Given the description of an element on the screen output the (x, y) to click on. 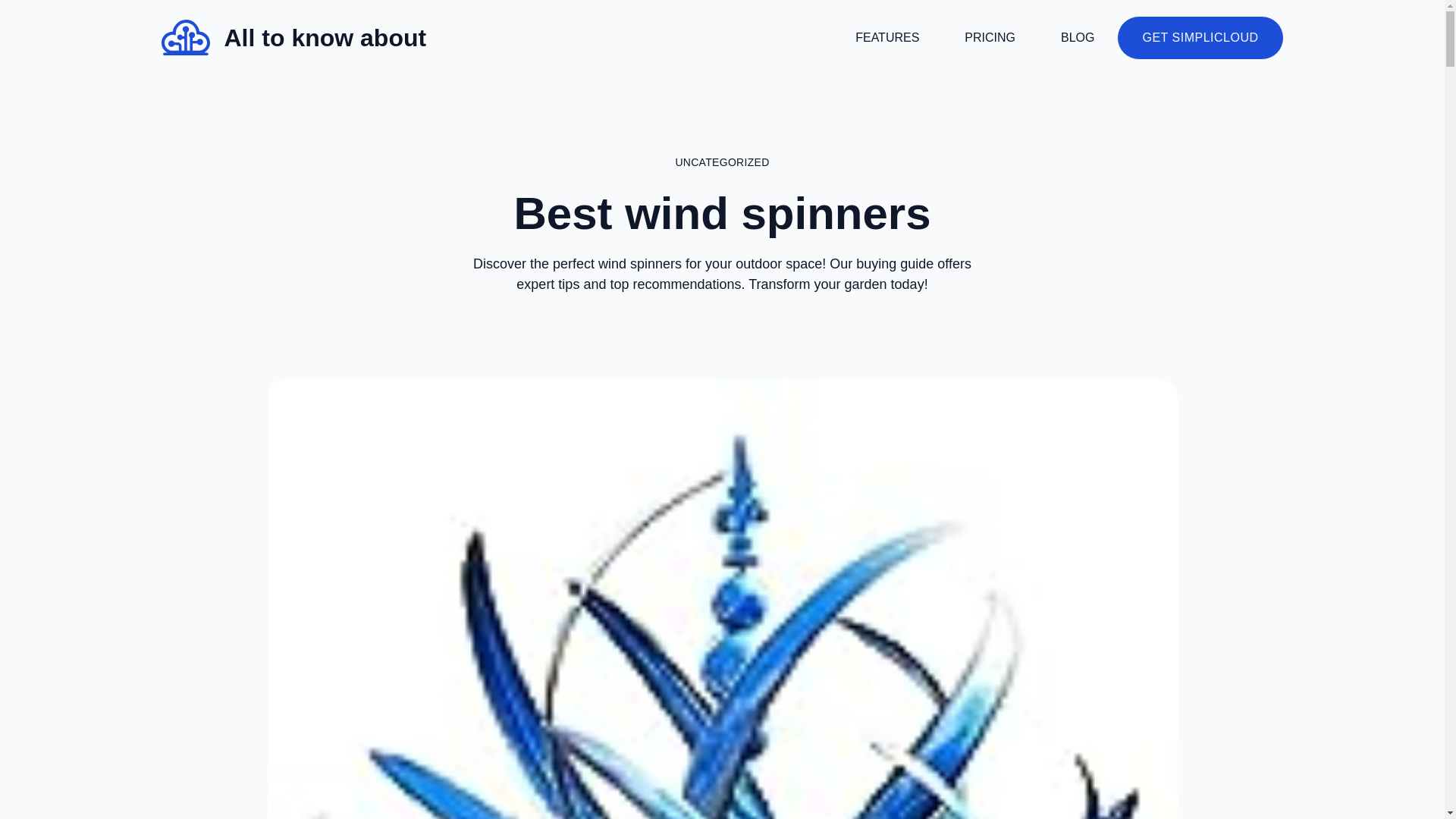
FEATURES (887, 37)
PRICING (990, 37)
All to know about (325, 37)
BLOG (1077, 37)
